Given the description of an element on the screen output the (x, y) to click on. 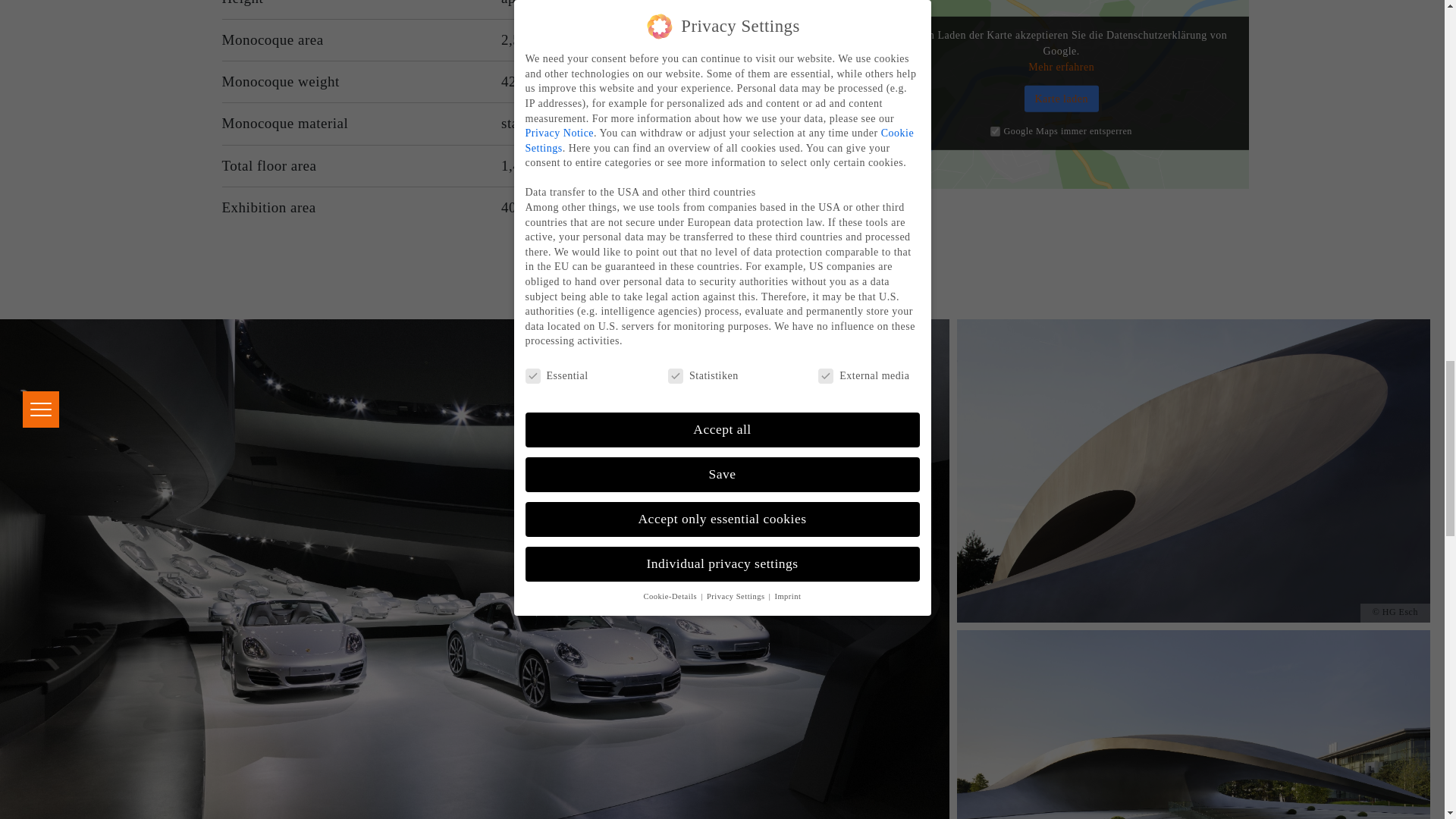
1 (995, 131)
